Given the description of an element on the screen output the (x, y) to click on. 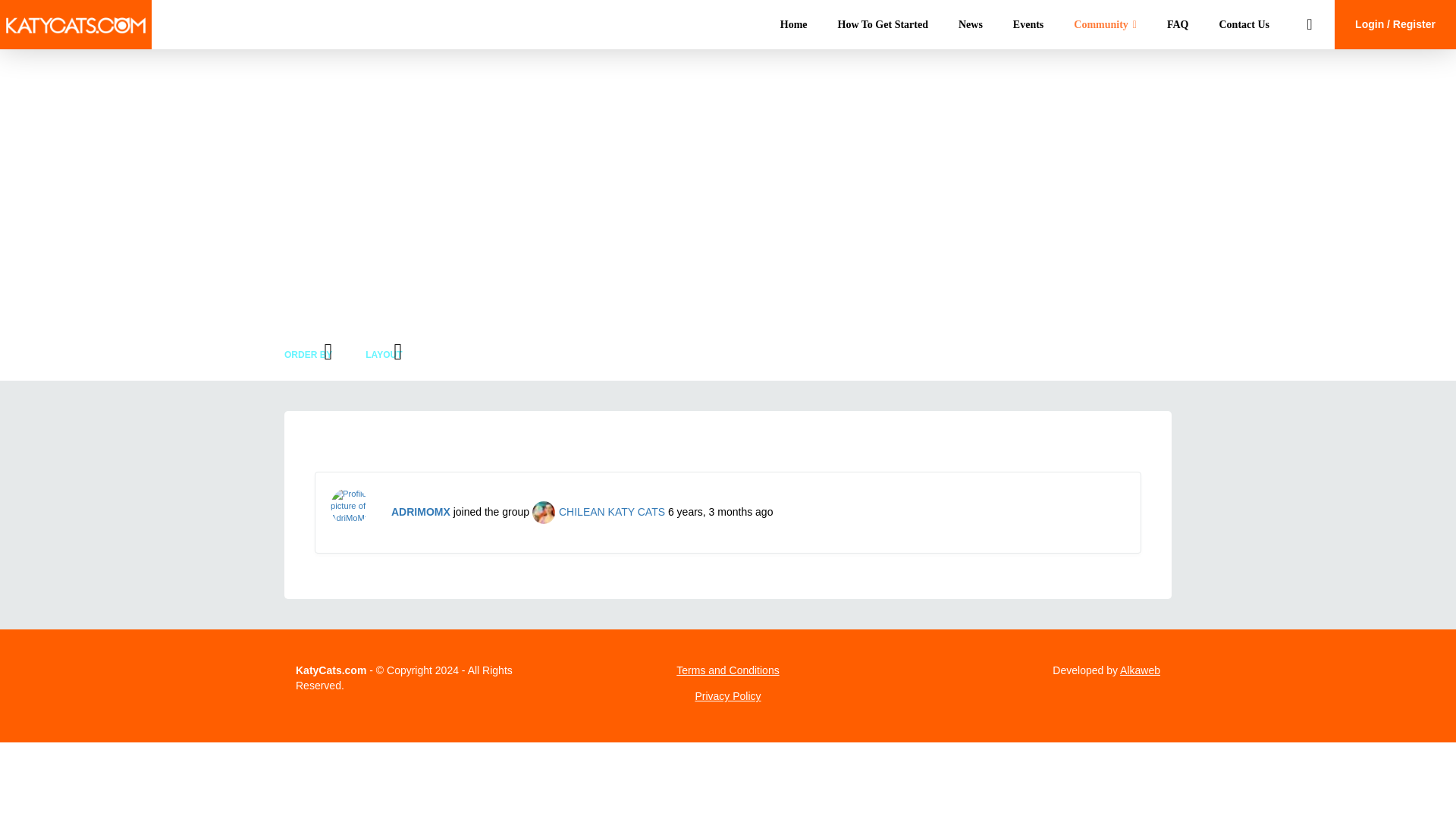
ADRIMOMX (420, 511)
FAQ (1177, 24)
News (970, 24)
How To Get Started (882, 24)
CHILEAN KATY CATS (598, 511)
Contact Us (1244, 24)
Forums (408, 206)
Events (1027, 24)
Community (1104, 24)
Home (793, 24)
